Given the description of an element on the screen output the (x, y) to click on. 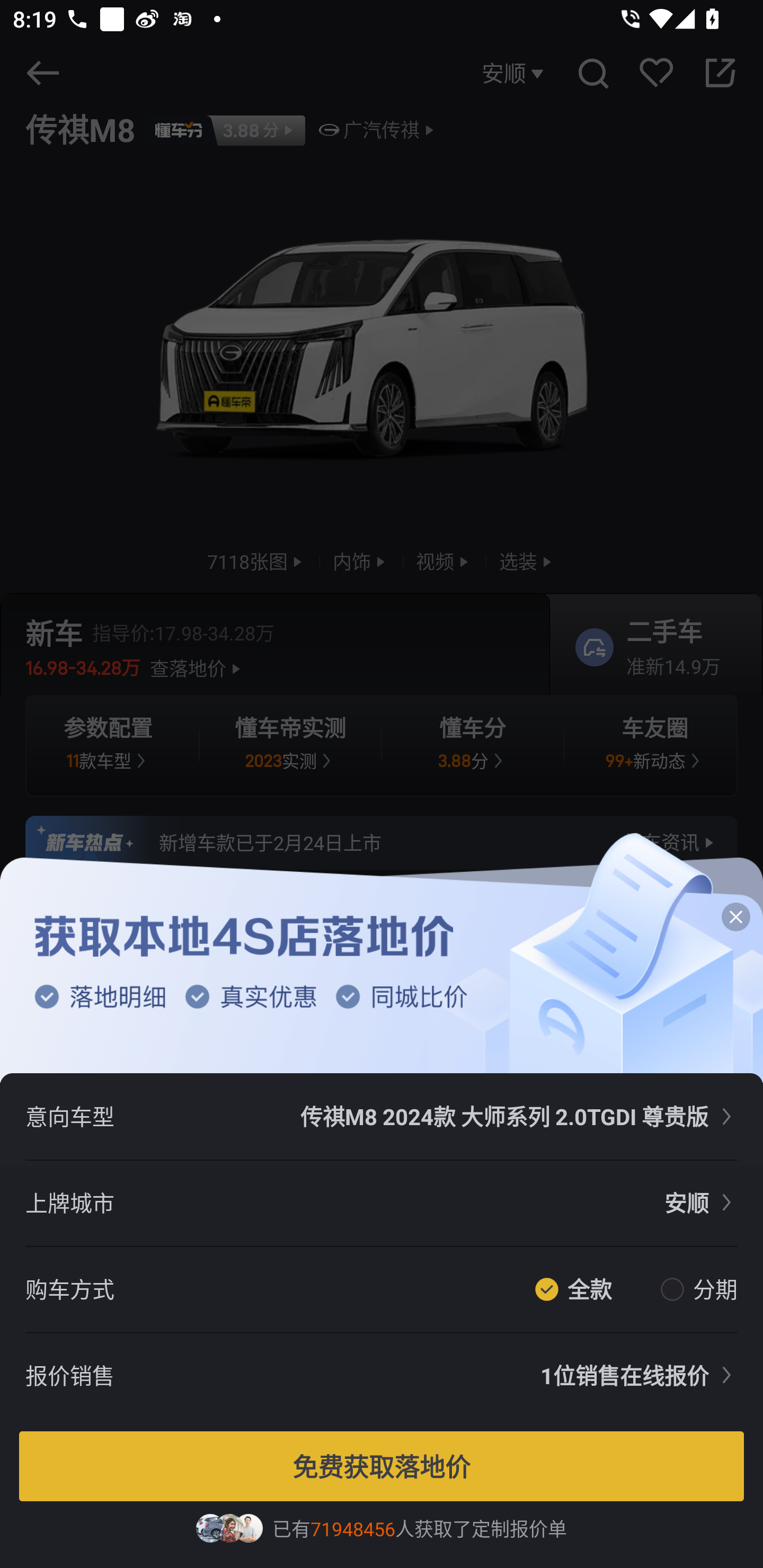
意向车型 传祺M8 2024款 大师系列 2.0TGDI 尊贵版  (381, 1116)
上牌城市 安顺  (381, 1203)
全款 (596, 1288)
分期 (711, 1288)
报价销售  1位销售在线报价  (381, 1375)
免费获取落地价 (381, 1465)
